Given the description of an element on the screen output the (x, y) to click on. 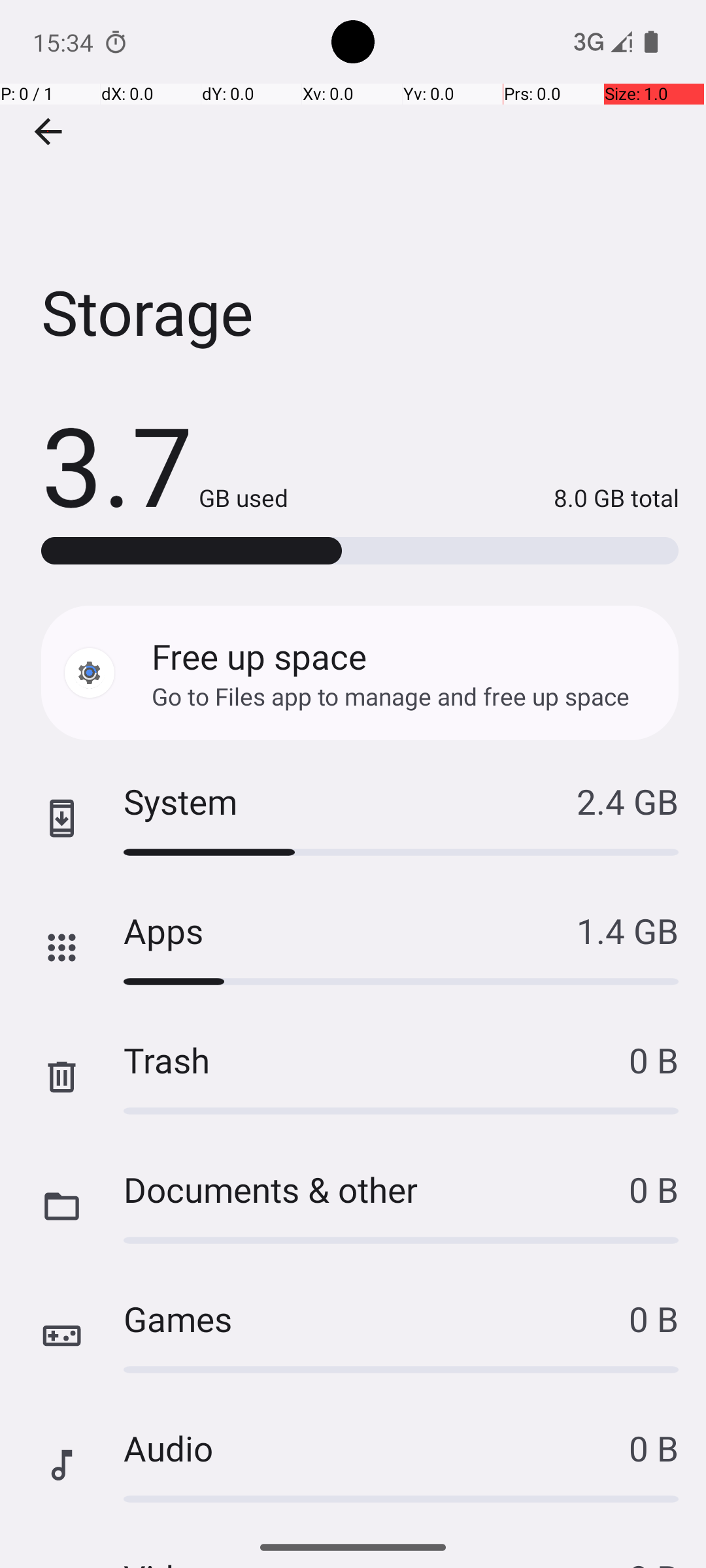
3.7 GB used Element type: android.widget.TextView (164, 463)
2.4 GB Element type: android.widget.TextView (627, 801)
